Given the description of an element on the screen output the (x, y) to click on. 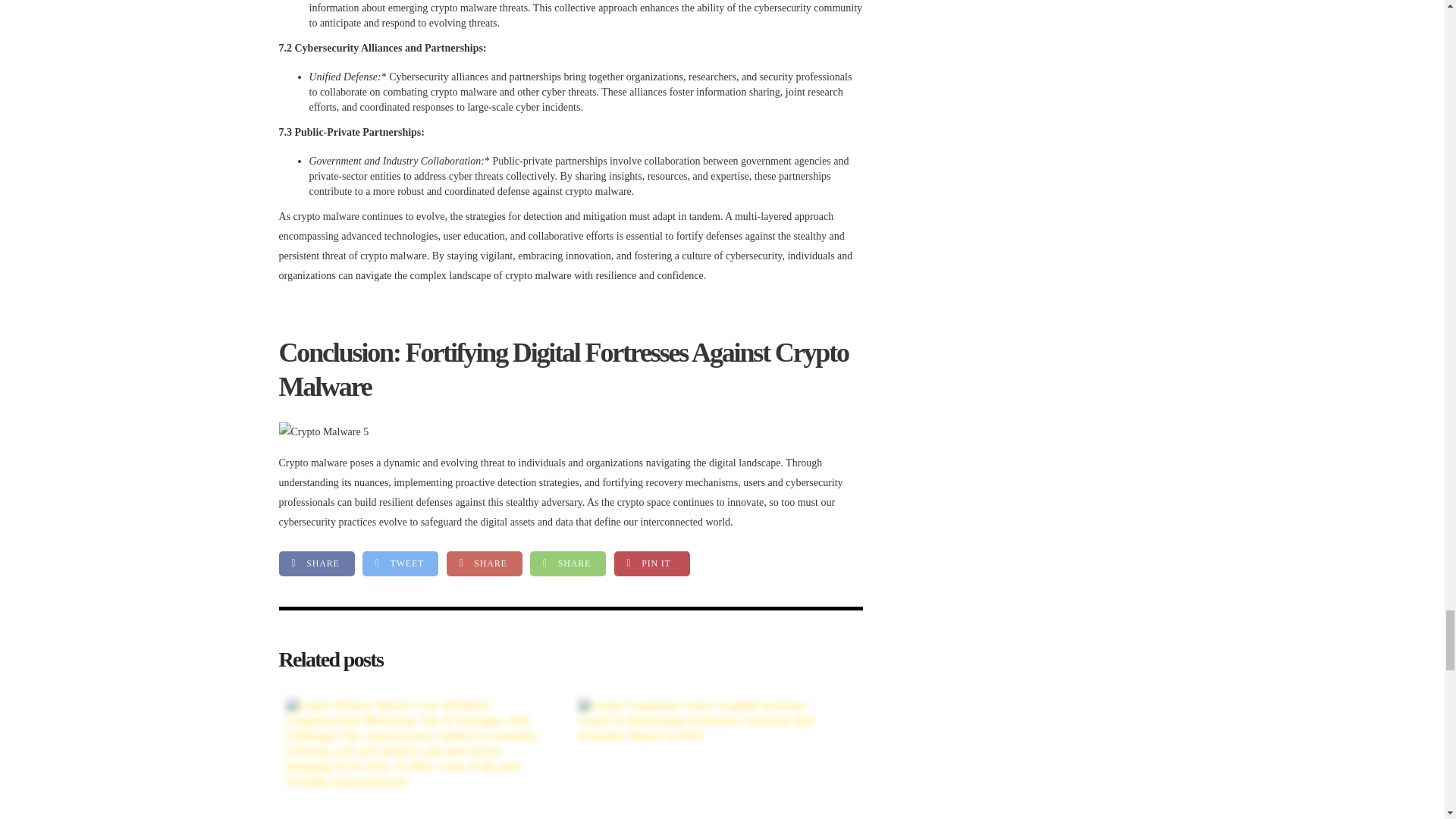
SHARE (317, 563)
TWEET (400, 563)
SHARE (483, 563)
